Given the description of an element on the screen output the (x, y) to click on. 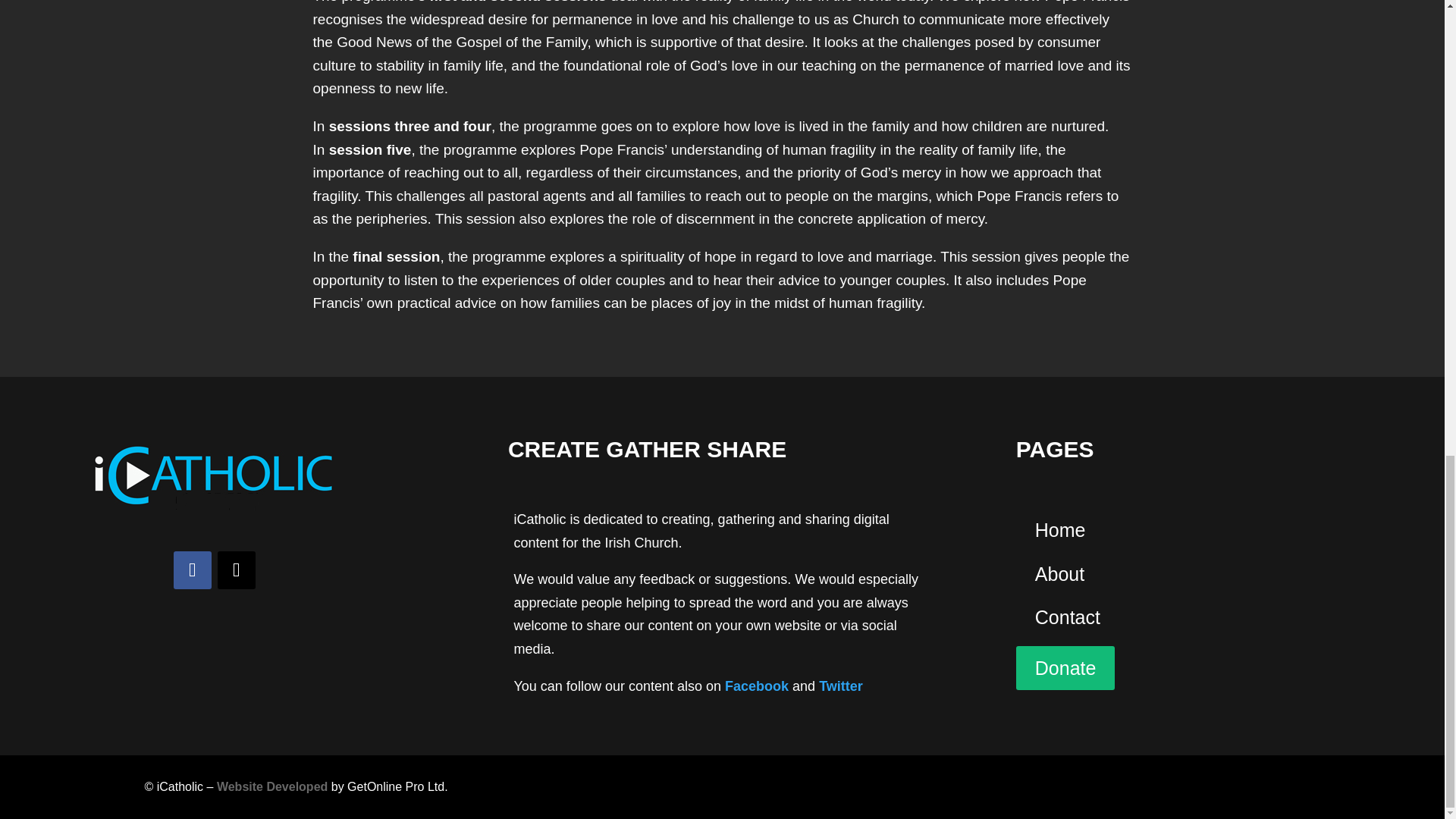
Follow on X (236, 569)
iCatholic-logo-2021 (214, 474)
Follow on Facebook (192, 569)
